Given the description of an element on the screen output the (x, y) to click on. 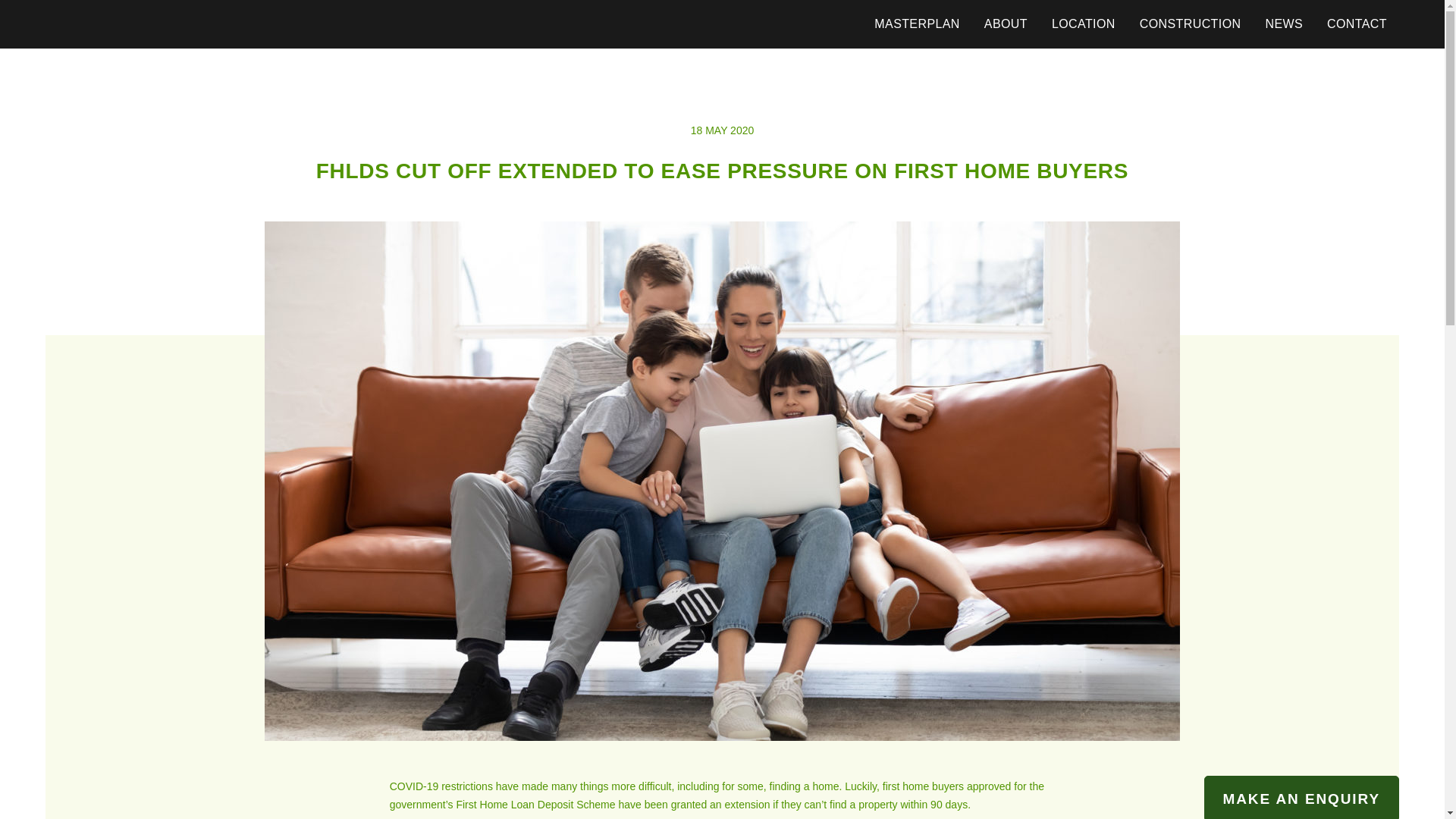
MASTERPLAN (916, 24)
MAKE AN ENQUIRY (1301, 797)
CONSTRUCTION (1190, 24)
NEWS (1283, 24)
ABOUT (1005, 24)
CONTACT (1356, 24)
LOCATION (1083, 24)
